Given the description of an element on the screen output the (x, y) to click on. 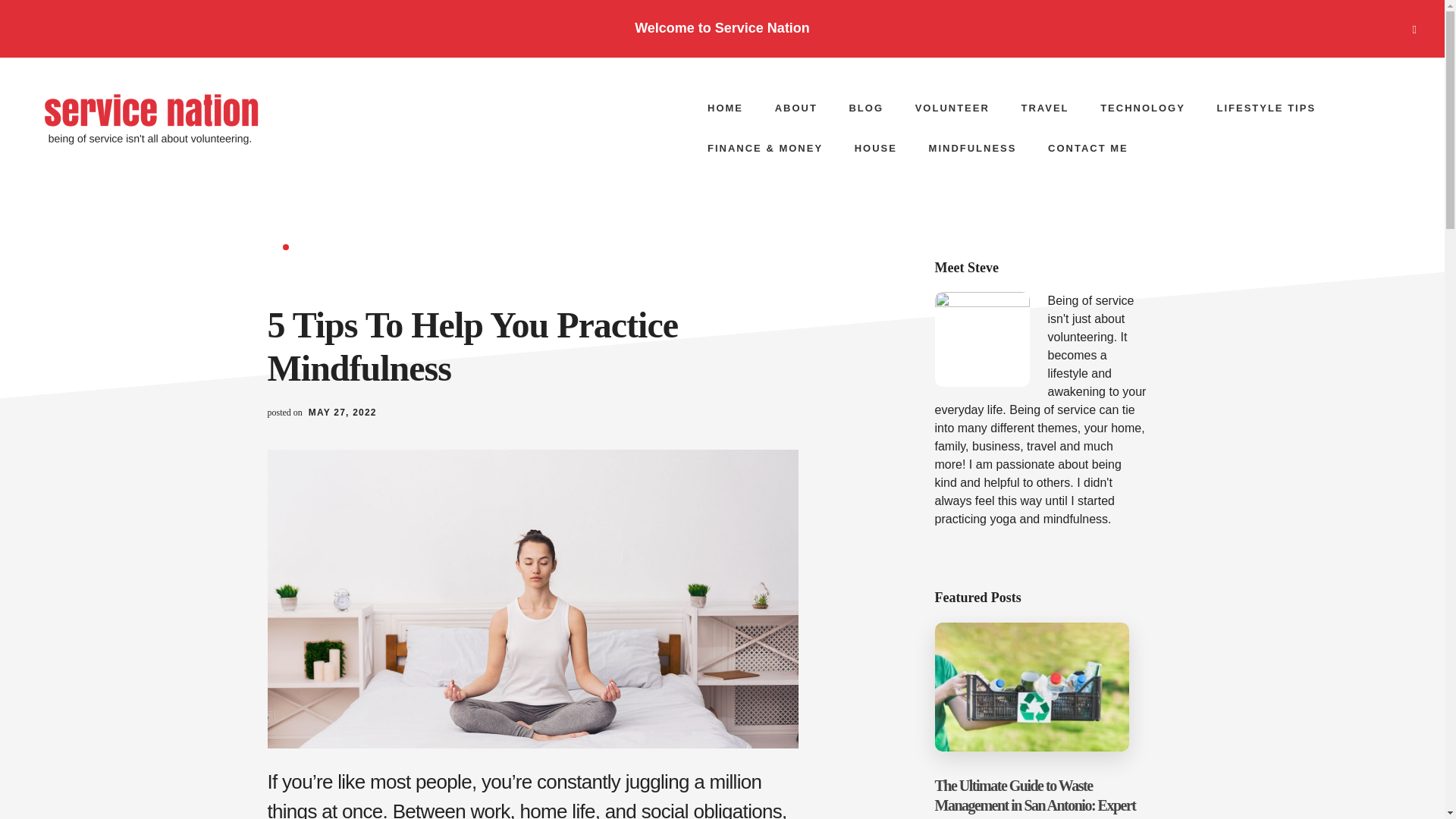
LIFESTYLE TIPS (1265, 107)
TECHNOLOGY (1142, 107)
TRAVEL (1044, 107)
MINDFULNESS (972, 147)
CONTACT ME (1087, 147)
HOUSE (876, 147)
SERVICE NATION (150, 117)
BLOG (865, 107)
VOLUNTEER (952, 107)
